Given the description of an element on the screen output the (x, y) to click on. 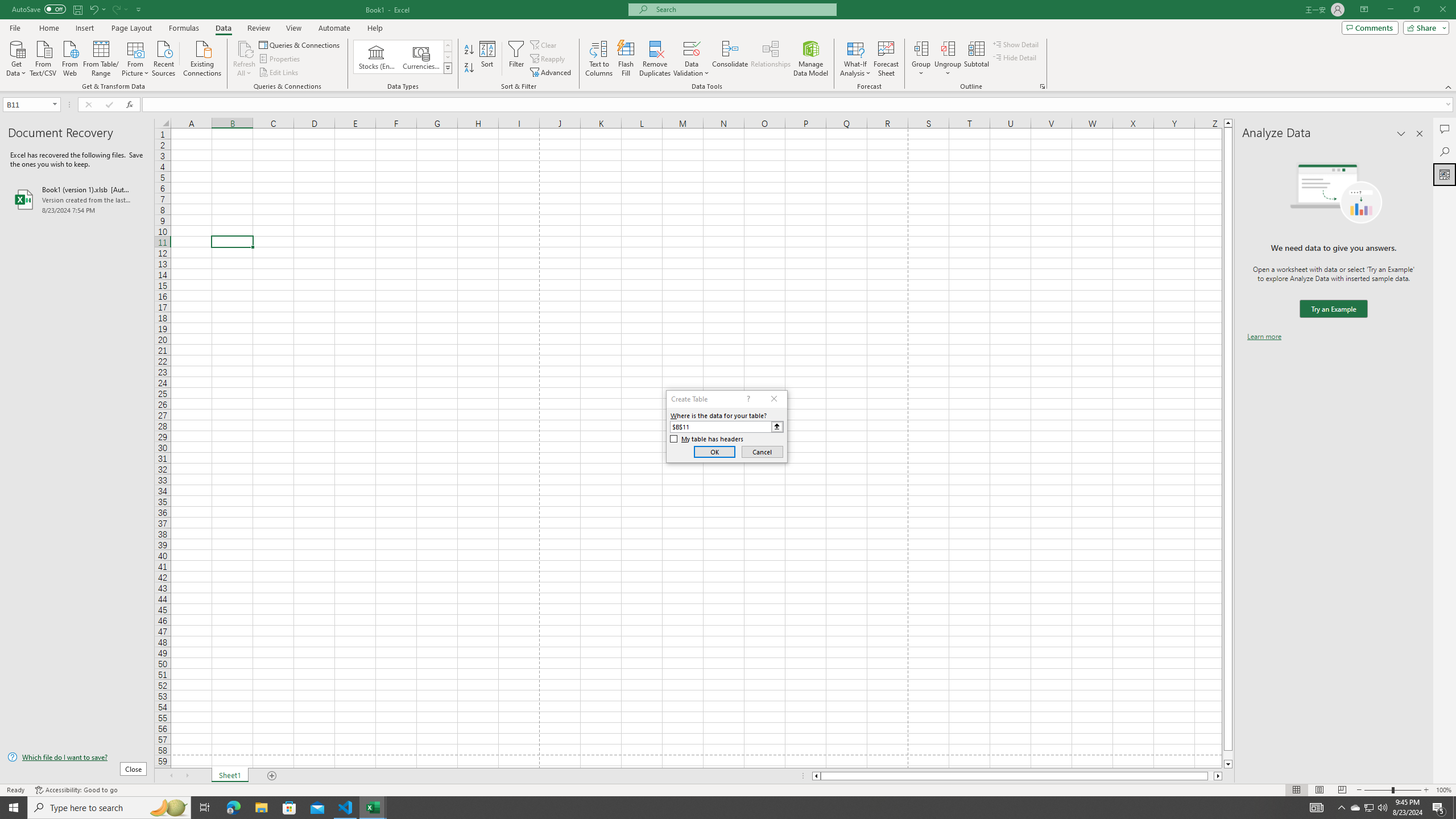
Existing Connections (202, 57)
Manage Data Model (810, 58)
Subtotal (976, 58)
Consolidate... (729, 58)
AutomationID: ConvertToLinkedEntity (403, 56)
